Given the description of an element on the screen output the (x, y) to click on. 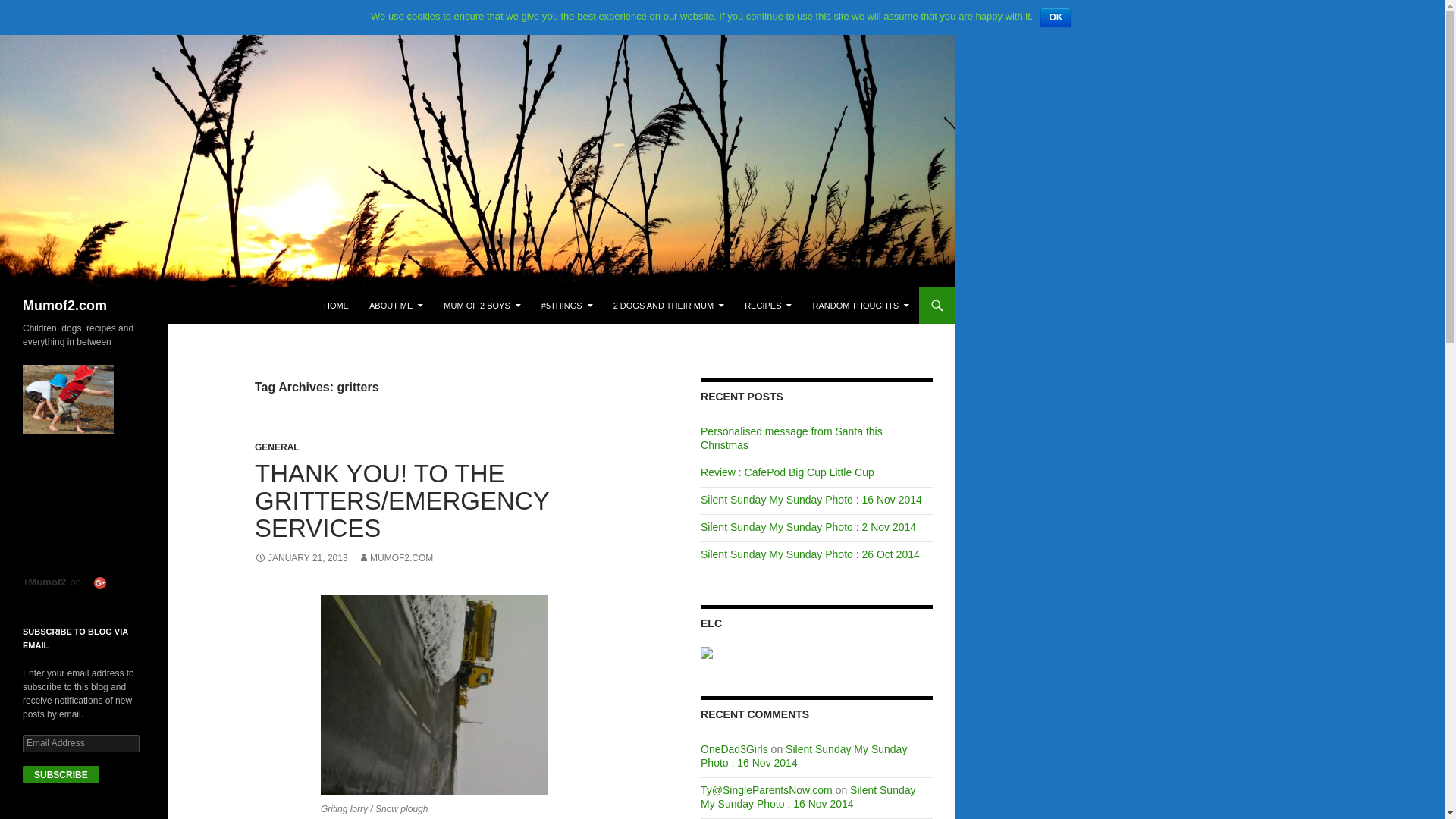
SKIP TO CONTENT (360, 293)
RANDOM THOUGHTS (860, 305)
MUMOF2.COM (395, 557)
ABOUT ME (395, 305)
GENERAL (276, 447)
Mumof2.com (64, 305)
MUM OF 2 BOYS (481, 305)
Subscribe (61, 773)
JANUARY 21, 2013 (300, 557)
Search (23, 296)
RECIPES (767, 305)
HOME (336, 305)
2 DOGS AND THEIR MUM (668, 305)
